Given the description of an element on the screen output the (x, y) to click on. 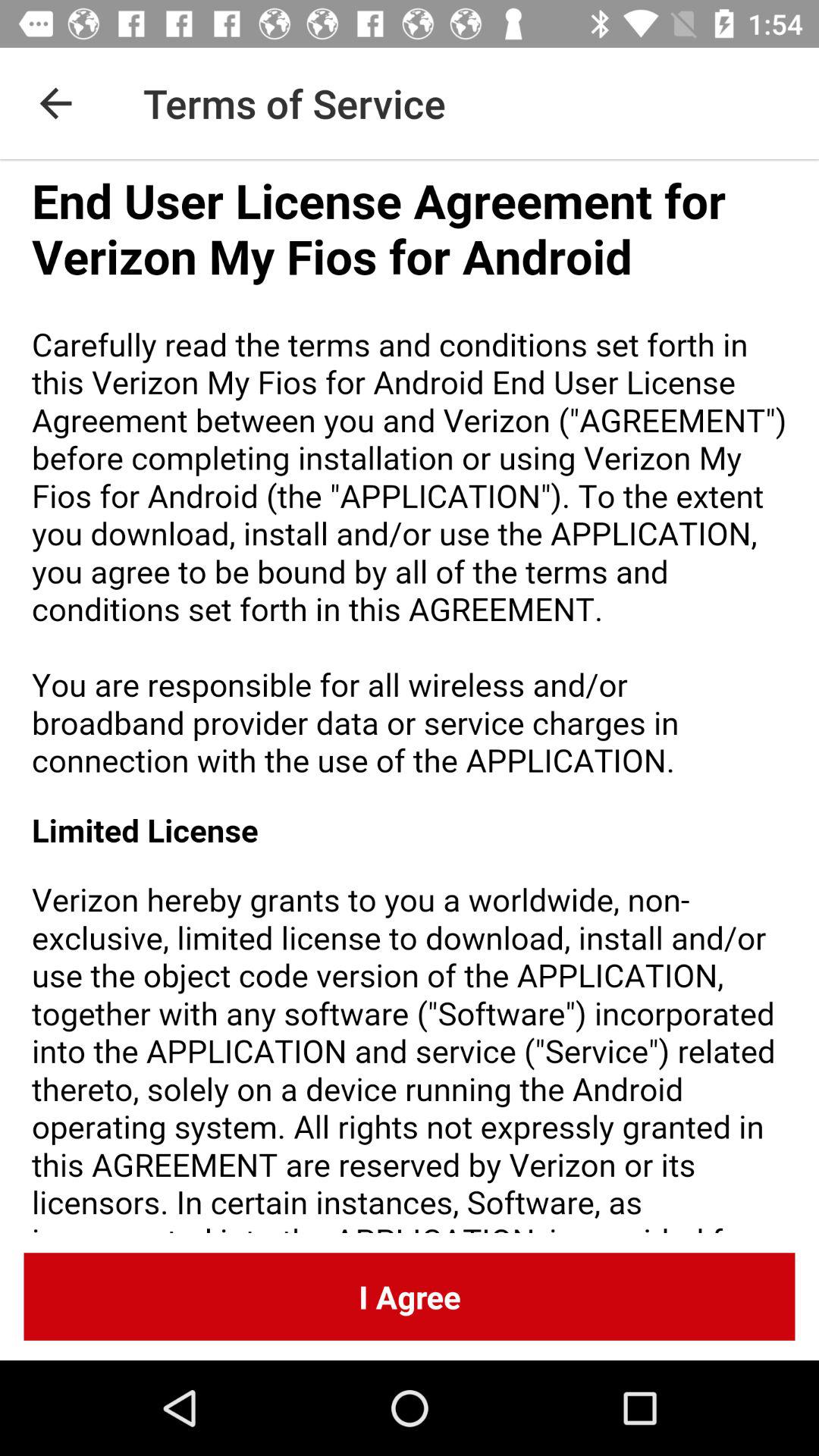
view end user license agreement (409, 696)
